Given the description of an element on the screen output the (x, y) to click on. 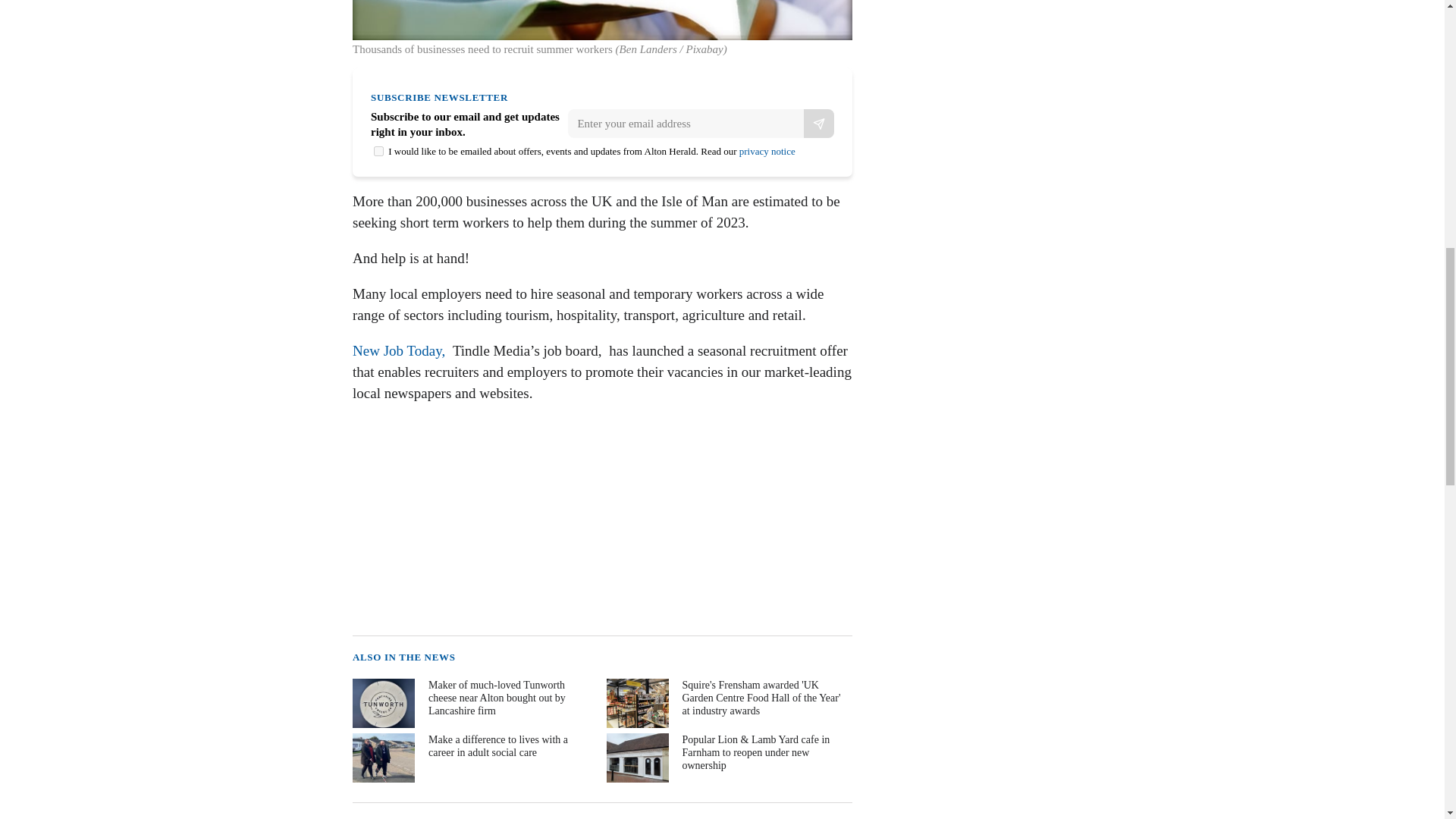
New Job Today, (400, 350)
privacy notice (766, 151)
